Given the description of an element on the screen output the (x, y) to click on. 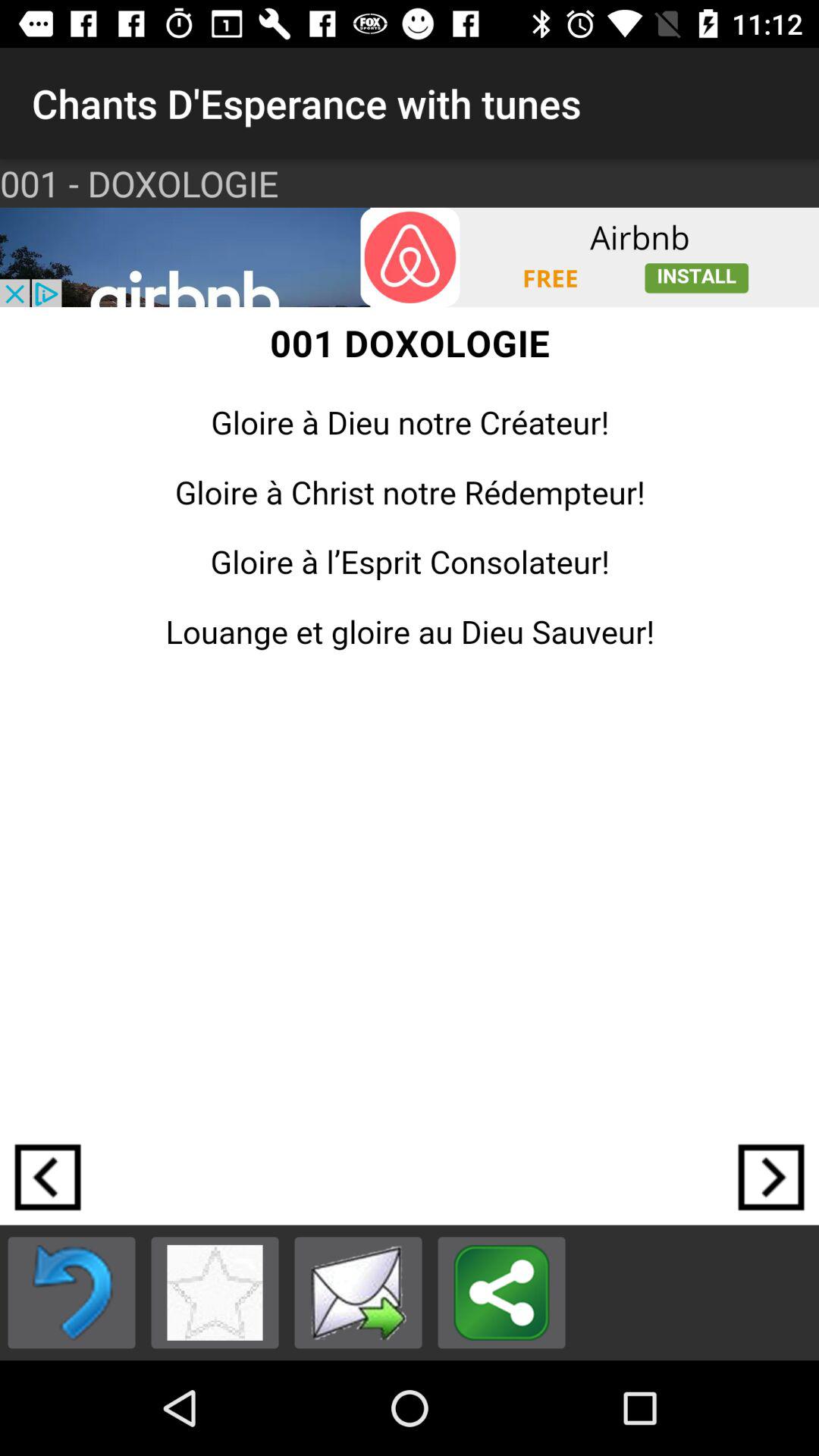
massage option (357, 1292)
